Given the description of an element on the screen output the (x, y) to click on. 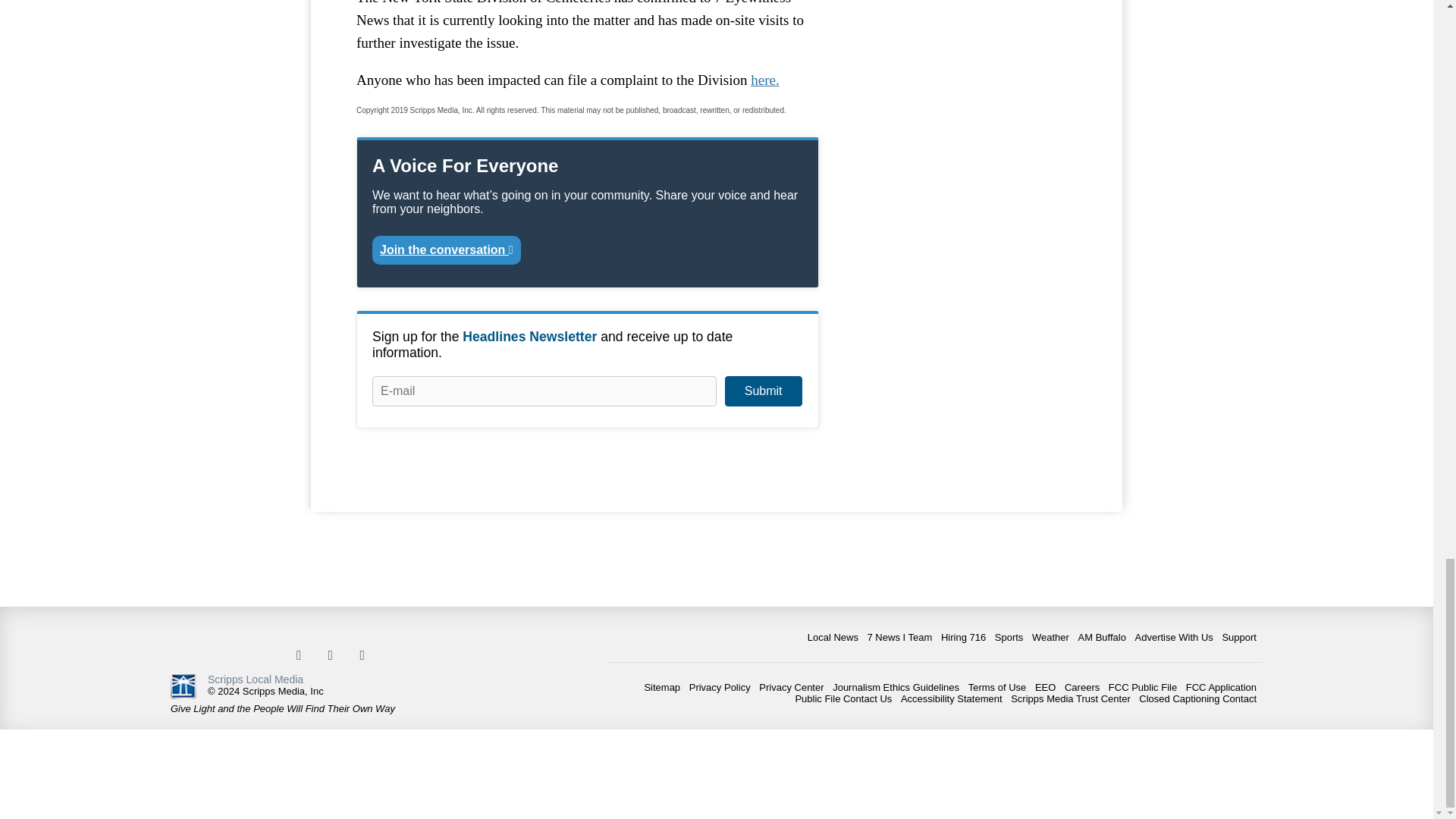
Submit (763, 390)
